Given the description of an element on the screen output the (x, y) to click on. 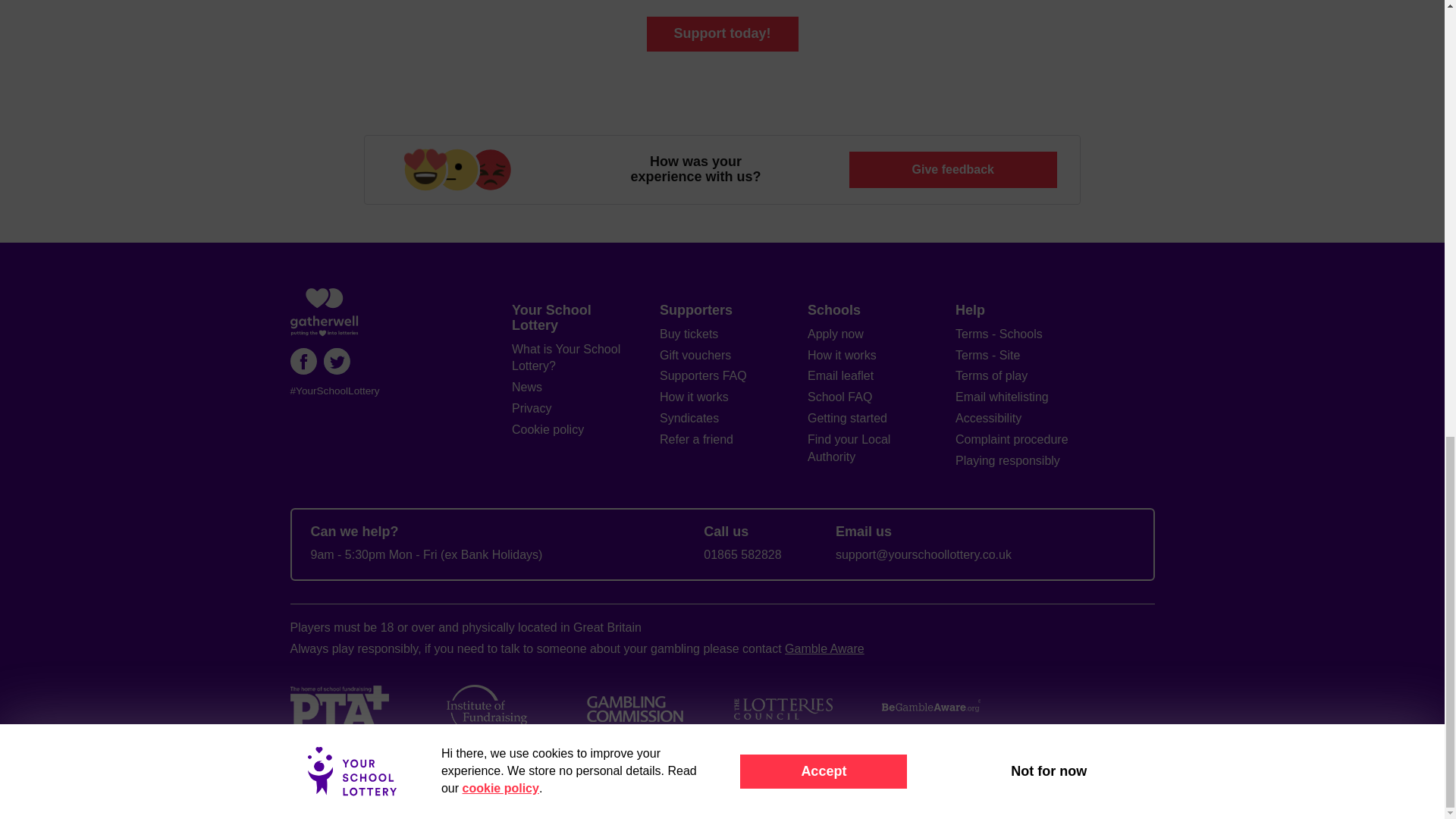
Schools - How it works (842, 354)
Support today! (721, 33)
Give feedback (952, 169)
Supporters - How it works (694, 396)
